Given the description of an element on the screen output the (x, y) to click on. 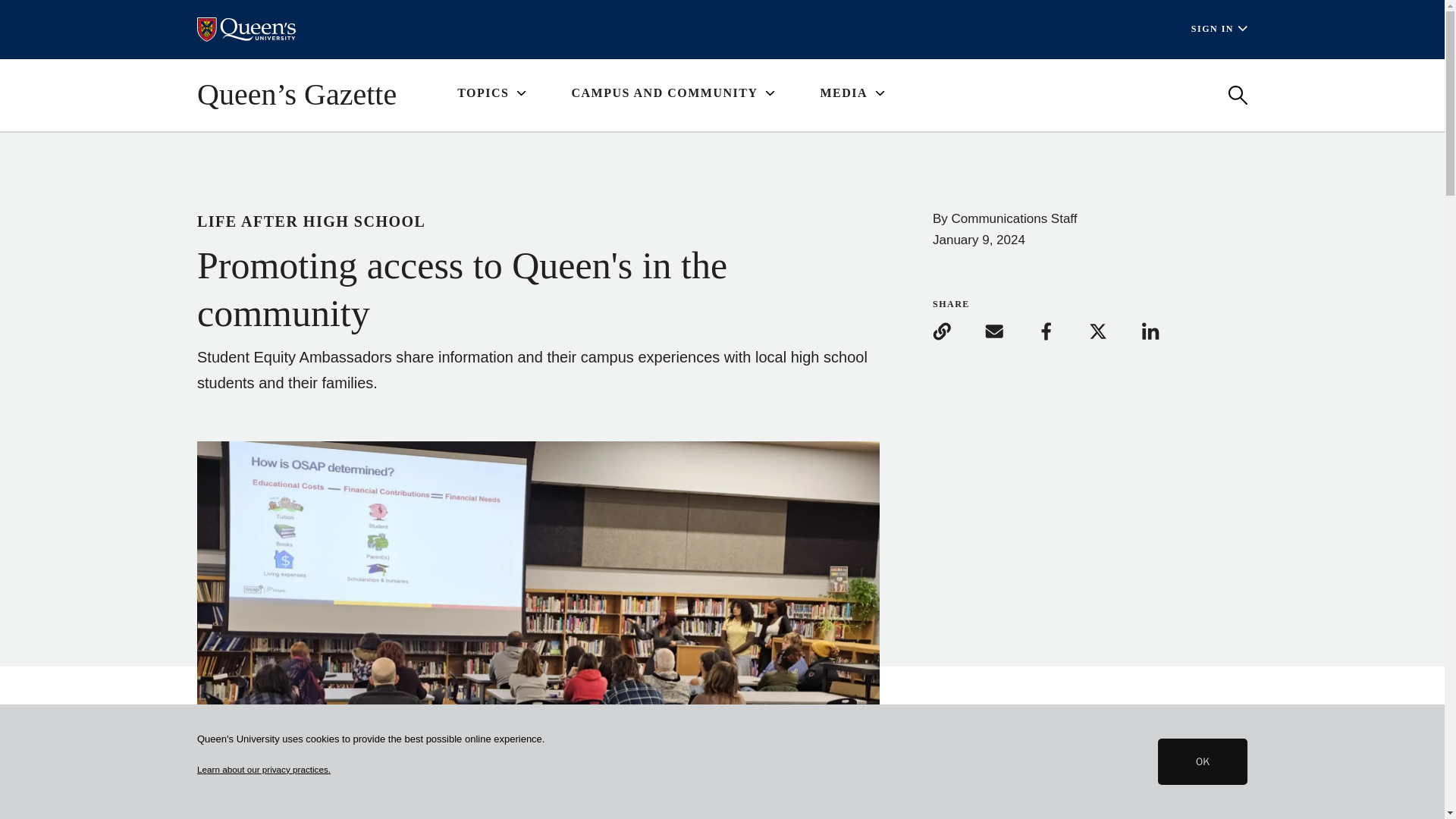
Copy link to clipboard (957, 330)
CAMPUS AND COMMUNITY (672, 94)
TOPICS (491, 94)
Expand menu Media (851, 94)
SIGN IN (1219, 29)
Expand menu Topics (491, 94)
Expand menu Campus and Community (672, 94)
